Given the description of an element on the screen output the (x, y) to click on. 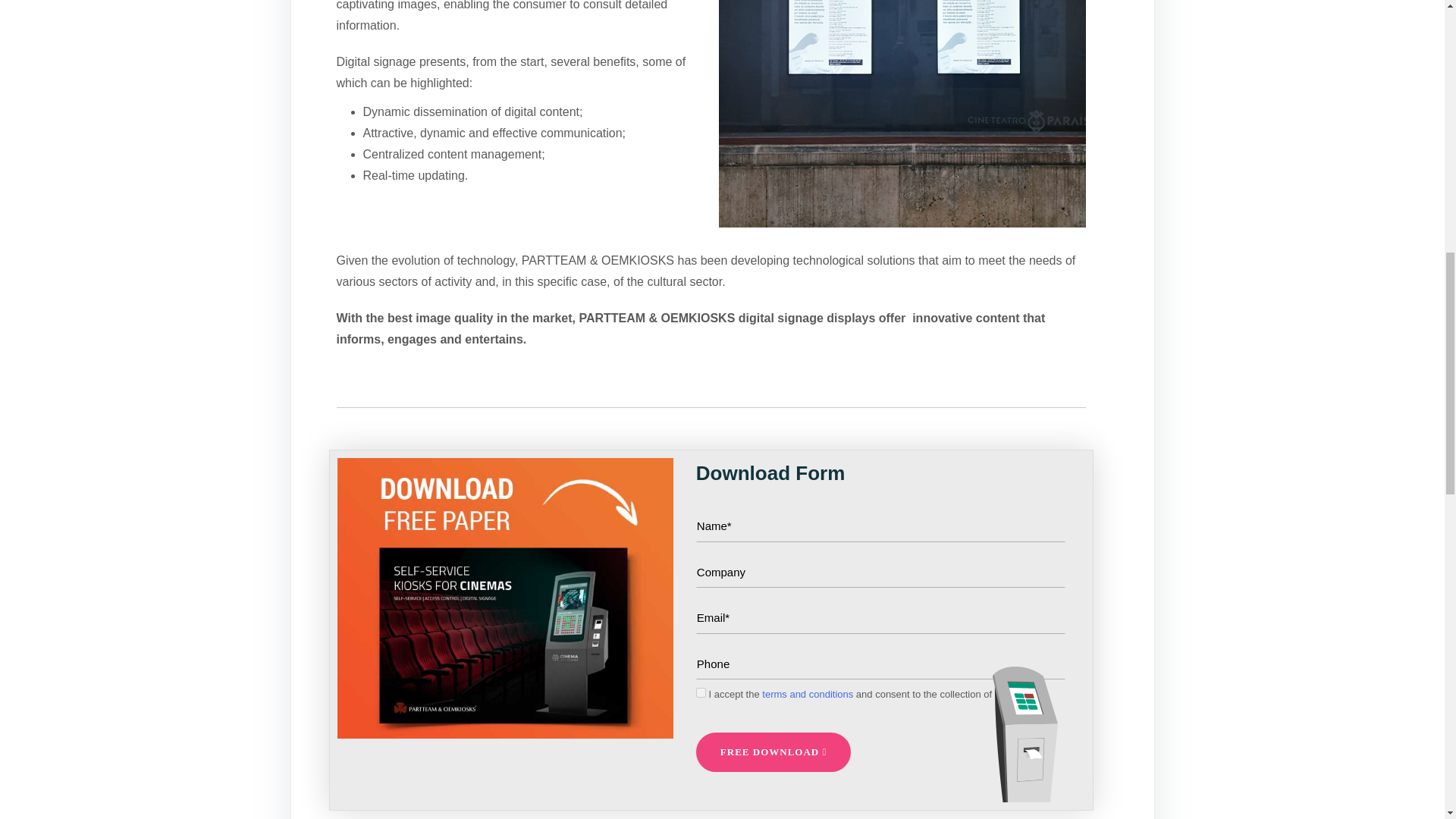
FREE DOWNLOAD (772, 752)
1 (700, 692)
terms and conditions (807, 694)
